Given the description of an element on the screen output the (x, y) to click on. 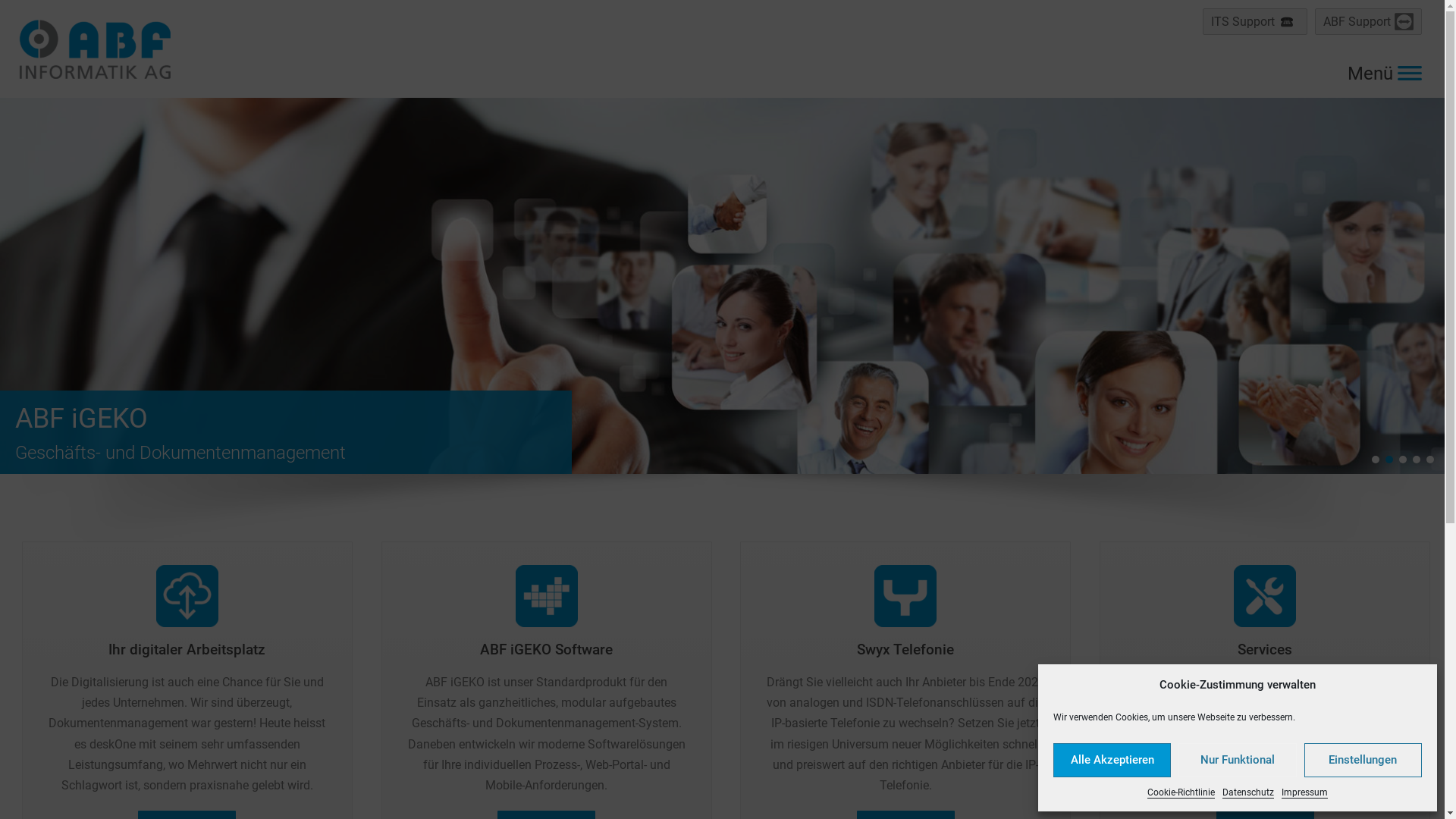
icon_igeko Element type: hover (546, 595)
icon_cloud Element type: hover (187, 595)
icon_service Element type: hover (1264, 595)
Cookie-Richtlinie Element type: text (1180, 792)
ITS Support Element type: text (1254, 21)
Alle Akzeptieren Element type: text (1111, 760)
icon_swyx Element type: hover (905, 595)
ABF Support Element type: text (1367, 21)
Einstellungen Element type: text (1362, 760)
Nur Funktional Element type: text (1236, 760)
Datenschutz Element type: text (1248, 792)
logo Element type: hover (94, 48)
Impressum Element type: text (1304, 792)
